Given the description of an element on the screen output the (x, y) to click on. 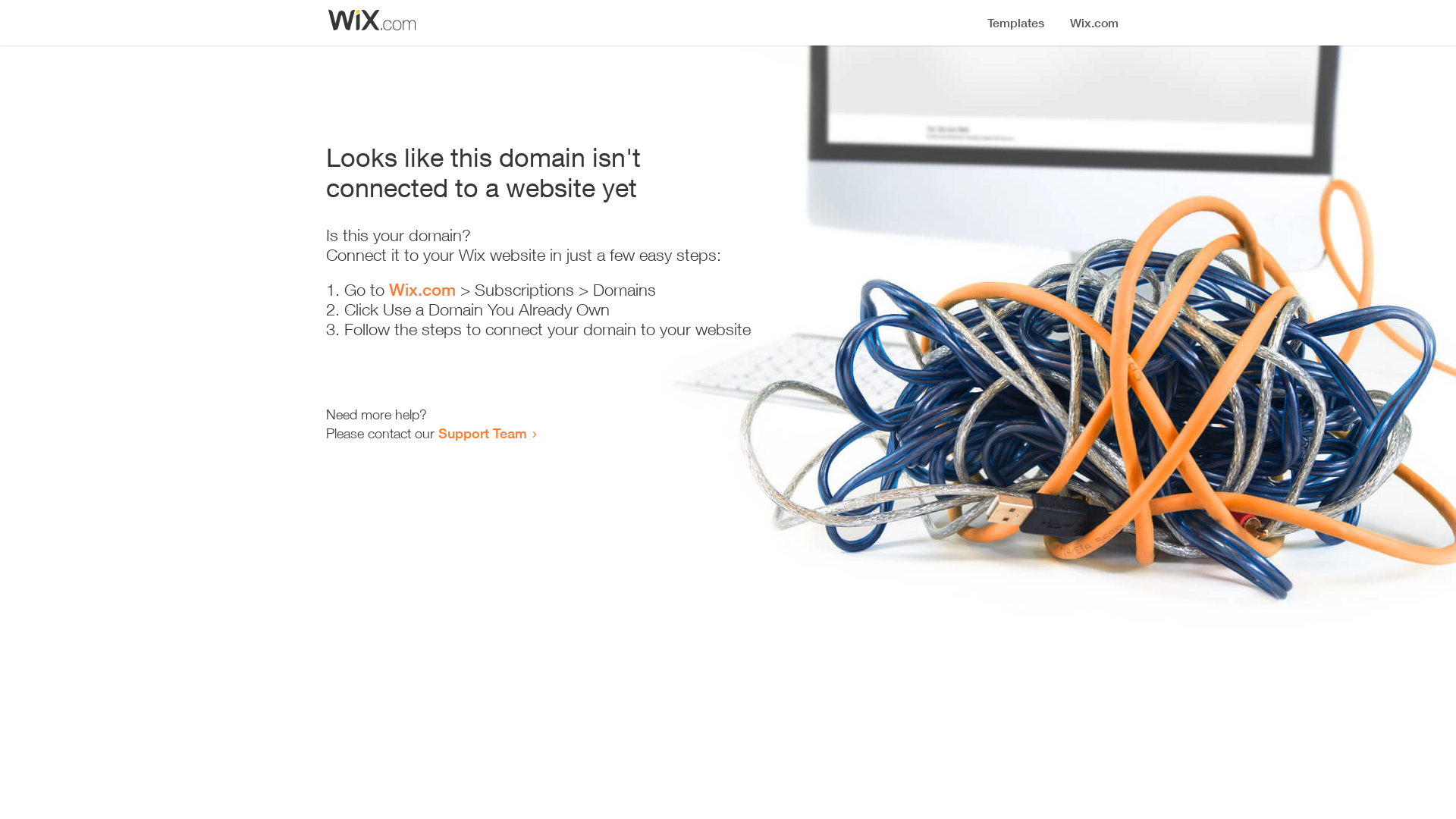
Wix.com Element type: text (422, 289)
Support Team Element type: text (482, 432)
